Given the description of an element on the screen output the (x, y) to click on. 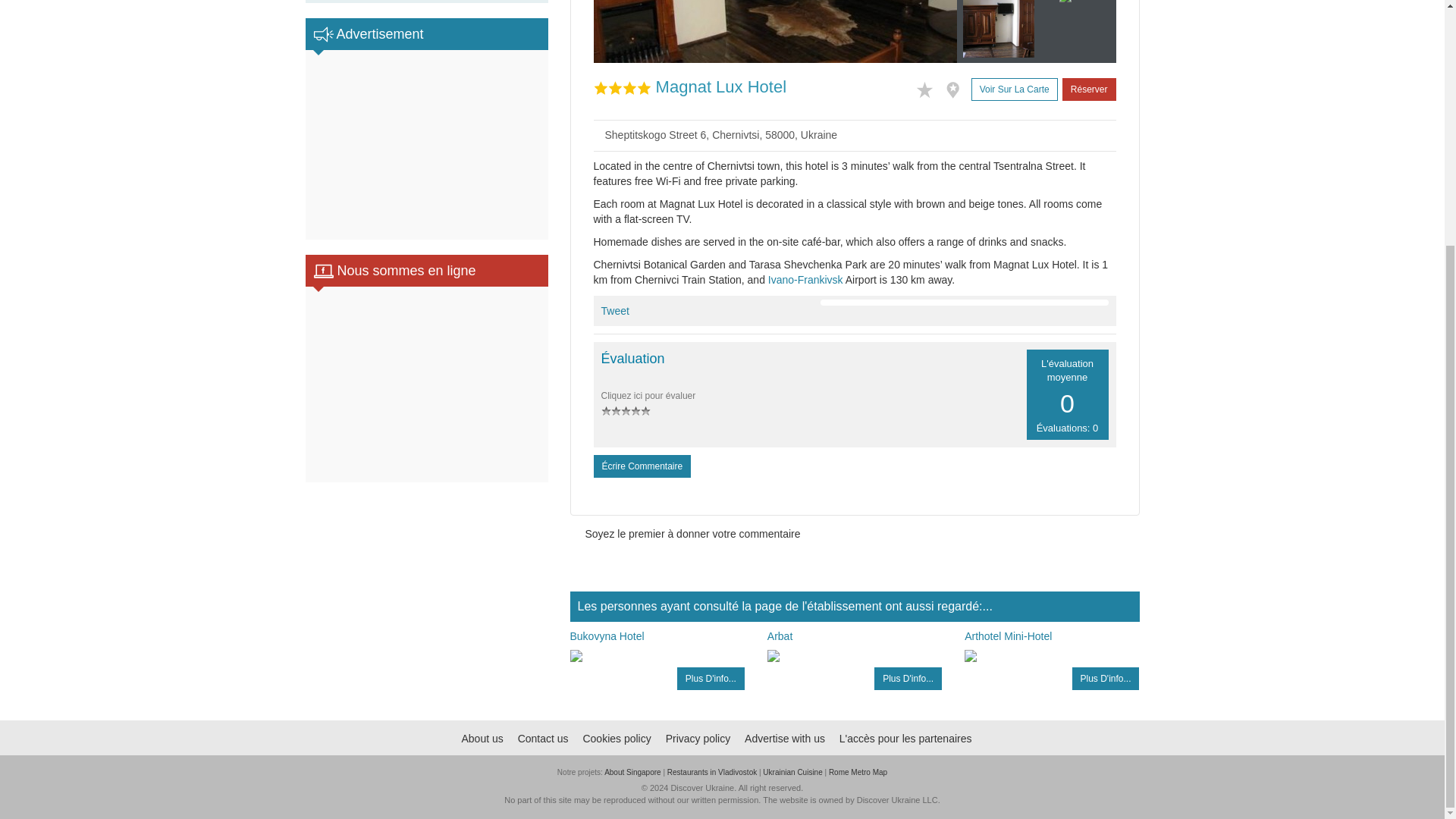
Favoris (927, 87)
